Given the description of an element on the screen output the (x, y) to click on. 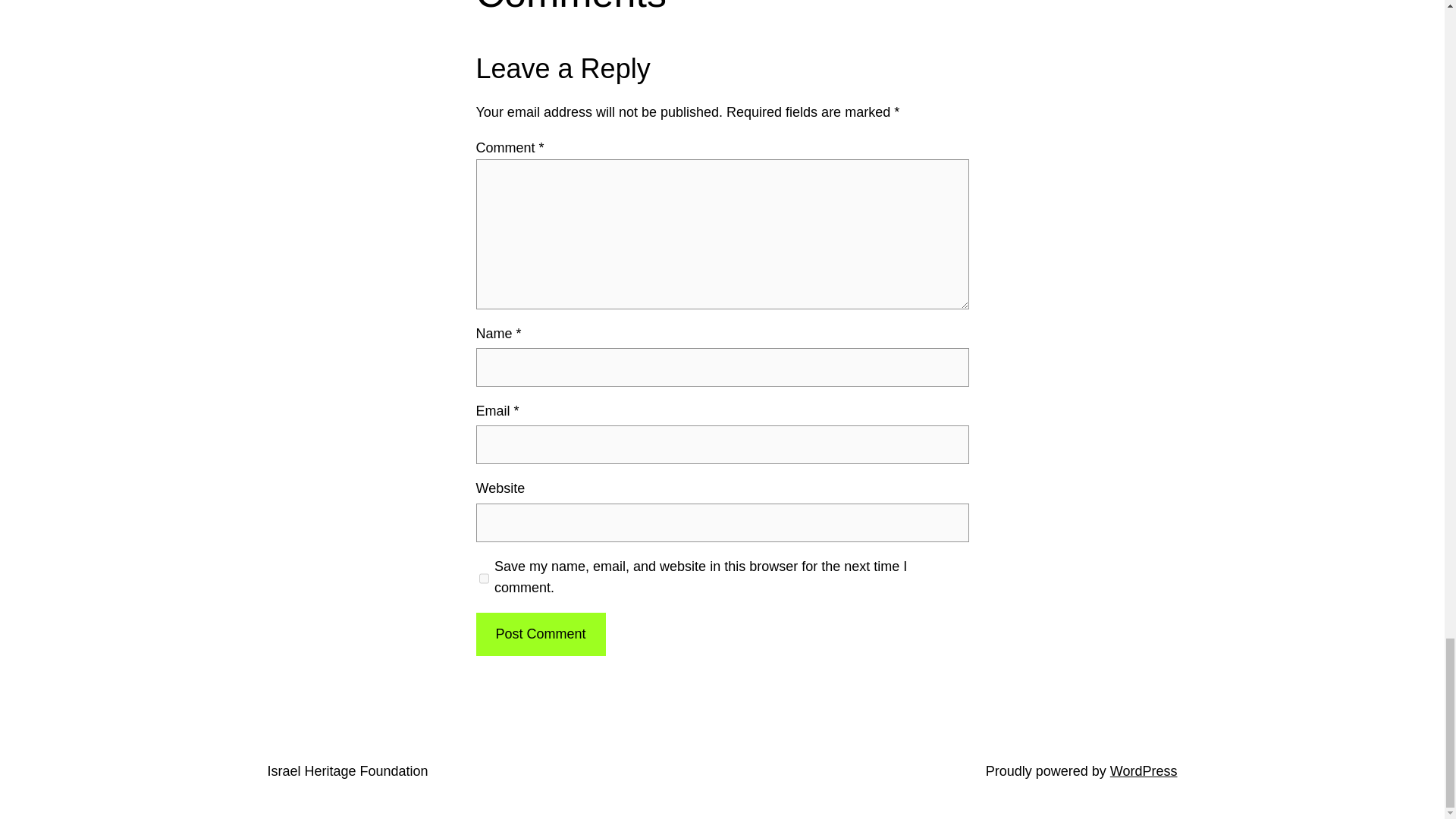
WordPress (1143, 770)
Post Comment (540, 634)
Post Comment (540, 634)
Israel Heritage Foundation (347, 770)
